Given the description of an element on the screen output the (x, y) to click on. 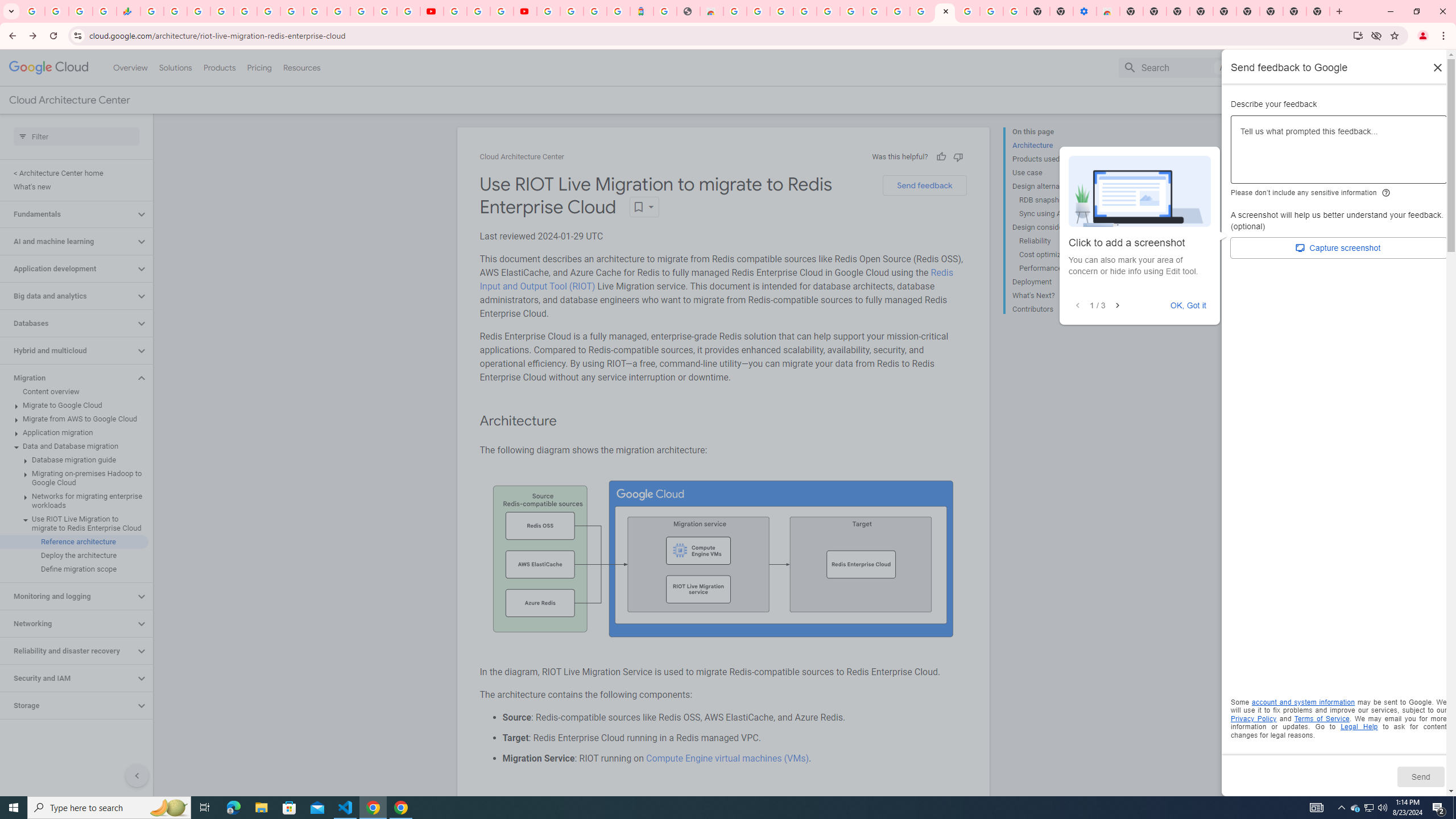
Solutions (175, 67)
Contact Us (1324, 100)
Deploy the architecture (74, 555)
Google Cloud (48, 67)
Use RIOT Live Migration to migrate to Redis Enterprise Cloud (74, 523)
Migrating on-premises Hadoop to Google Cloud (74, 477)
Browse the Google Chrome Community - Google Chrome Community (921, 11)
Start free (1400, 100)
Opens in a new tab. Legal Help (1358, 727)
Define migration scope (74, 568)
